Given the description of an element on the screen output the (x, y) to click on. 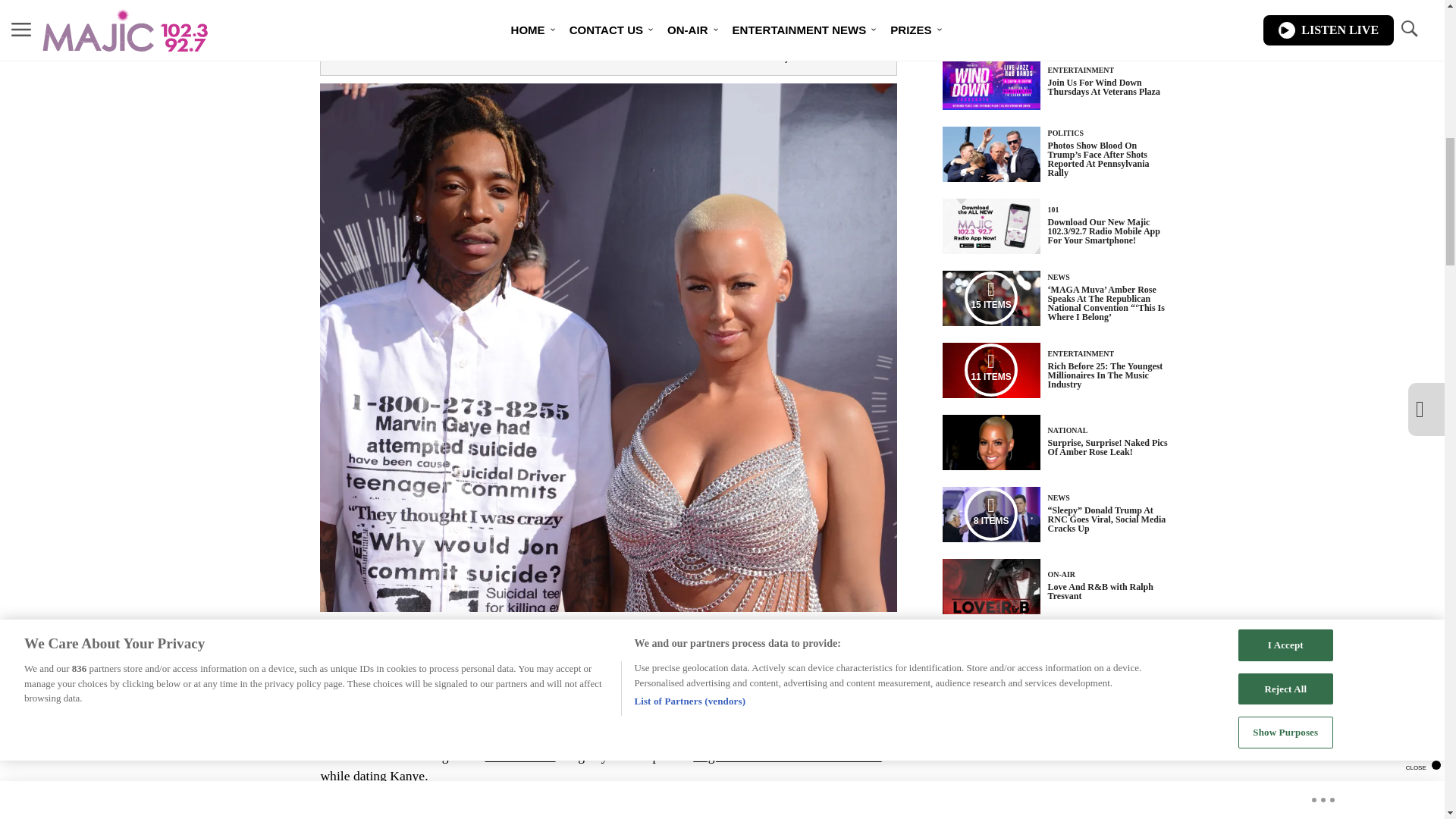
Wiz Khalifa (467, 676)
Media Playlist (990, 369)
Amber Rose (520, 755)
Media Playlist (990, 513)
Kanye West (577, 676)
rename his album (675, 676)
Media Playlist (990, 297)
